Given the description of an element on the screen output the (x, y) to click on. 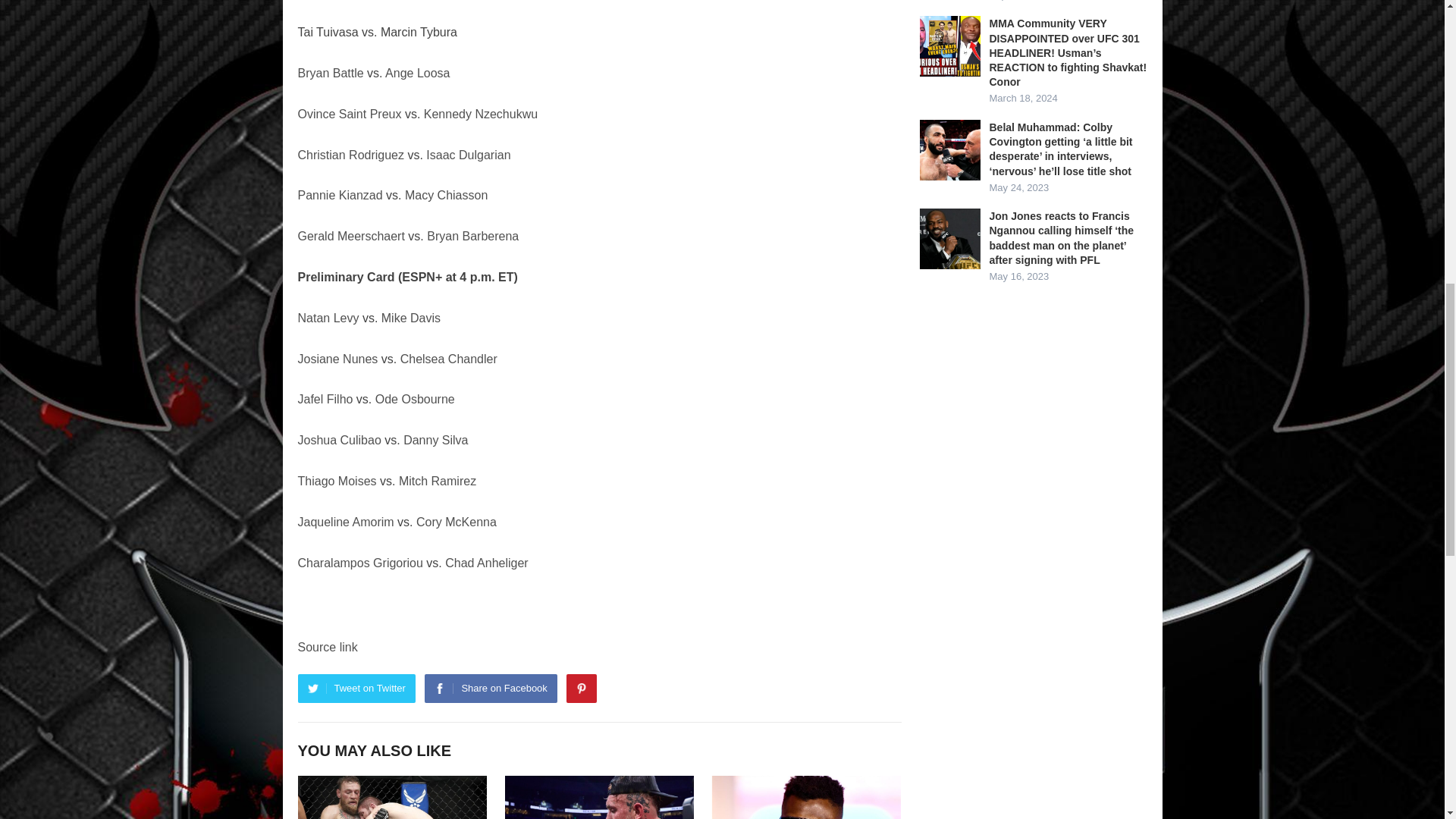
Ange Loosa (417, 72)
Ovince Saint Preux (349, 113)
Christian Rodriguez (350, 154)
Bryan Battle (329, 72)
UFC on ESPN 60: Best photos from Las Vegas 2 (391, 797)
Kennedy Nzechukwu (480, 113)
